Given the description of an element on the screen output the (x, y) to click on. 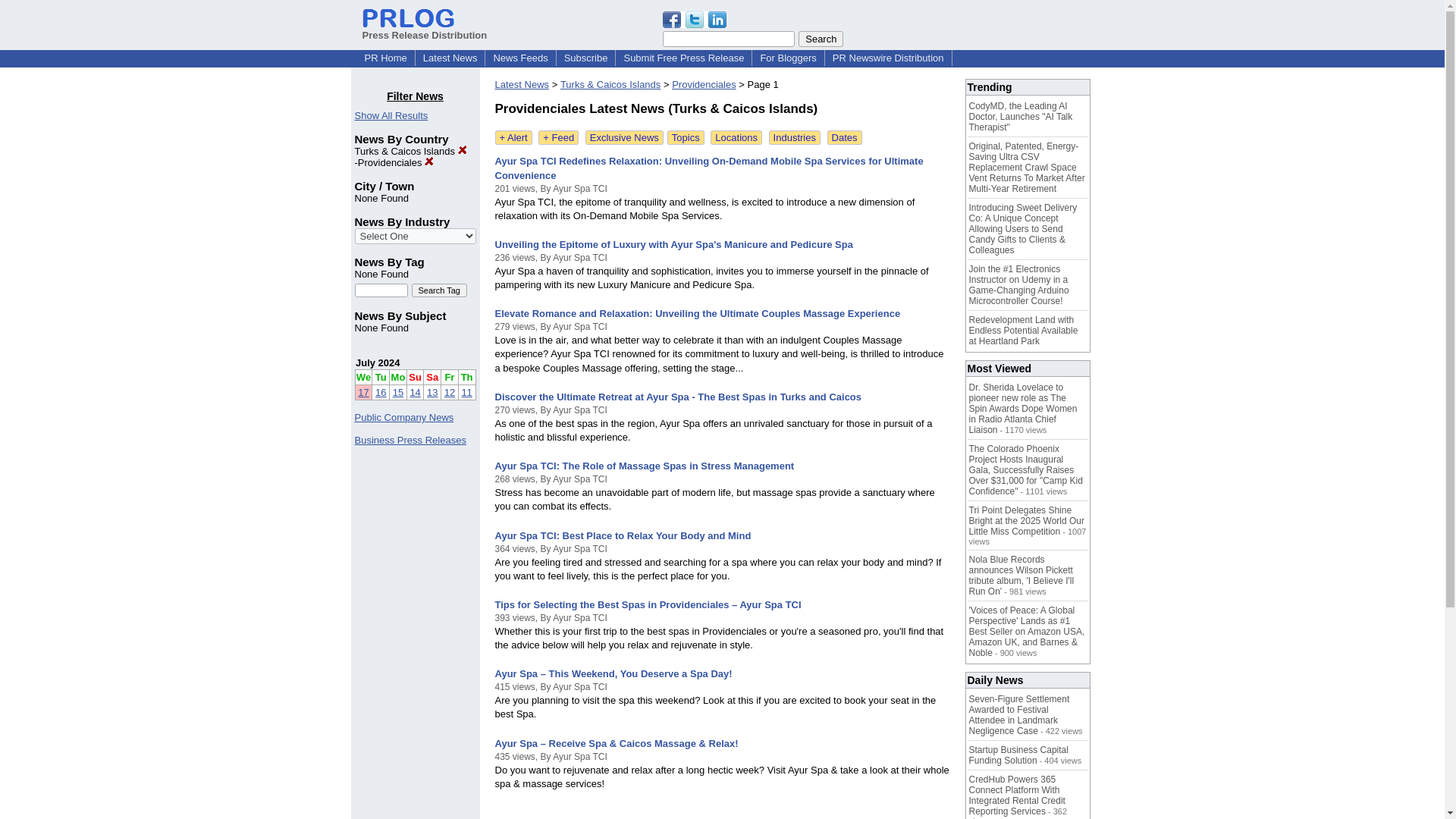
Business Press Releases (410, 439)
Click to see the index with all filters cleared (391, 115)
Submit Free Press Release (683, 57)
13 (432, 392)
Search Tag (437, 290)
Ayur Spa TCI: Best Place to Relax Your Body and Mind (623, 535)
11 (466, 392)
July 2024 (377, 362)
Share this page! (694, 24)
Click on an option to filter or browse by that option (415, 236)
Click to remove this filter (395, 162)
Industries (794, 137)
15 (398, 392)
